Given the description of an element on the screen output the (x, y) to click on. 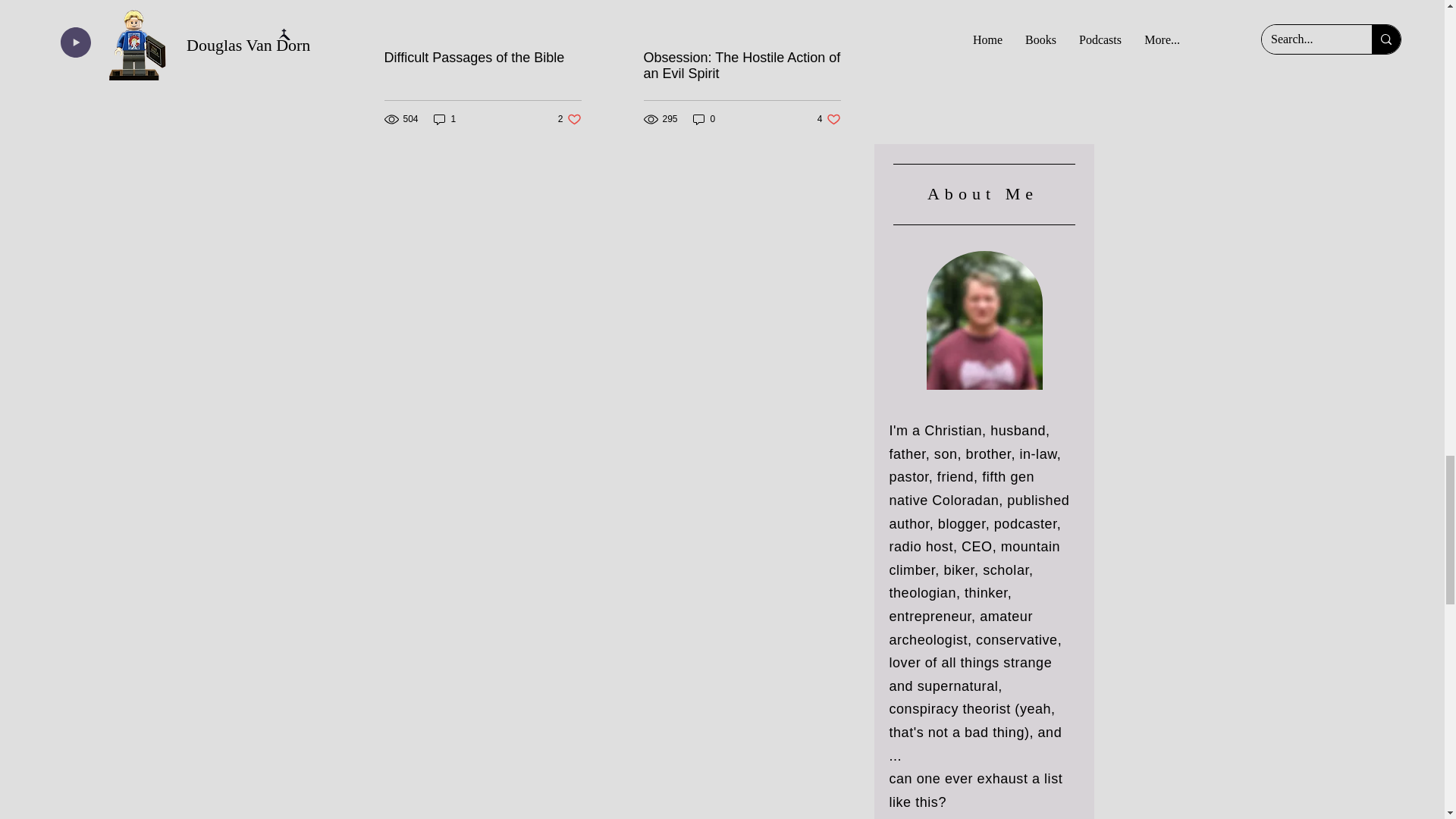
1 (568, 119)
Difficult Passages of the Bible (445, 119)
